Given the description of an element on the screen output the (x, y) to click on. 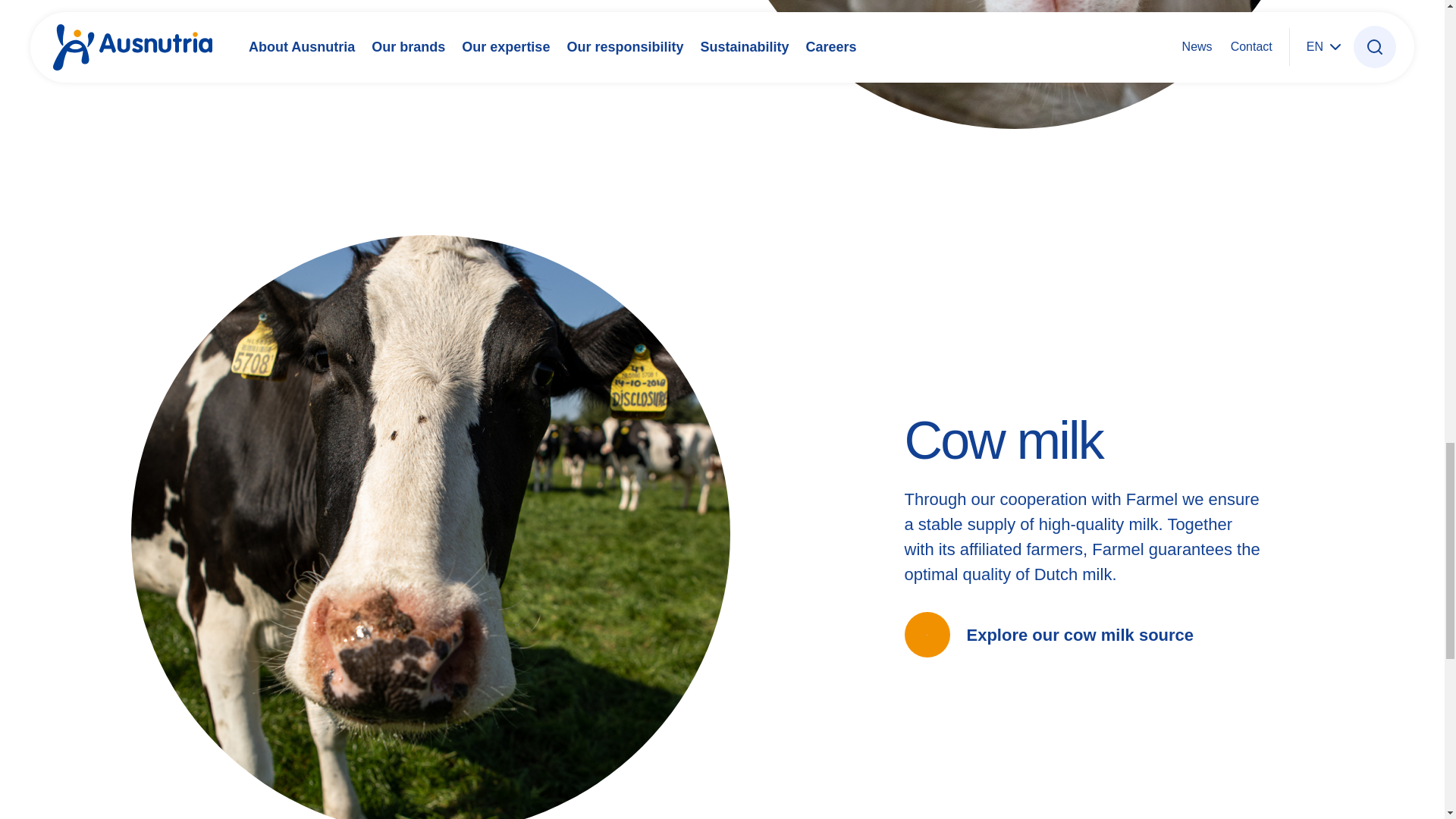
Explore our cow milk source (1048, 634)
20210701-DSC01795-scaled (1013, 64)
